Given the description of an element on the screen output the (x, y) to click on. 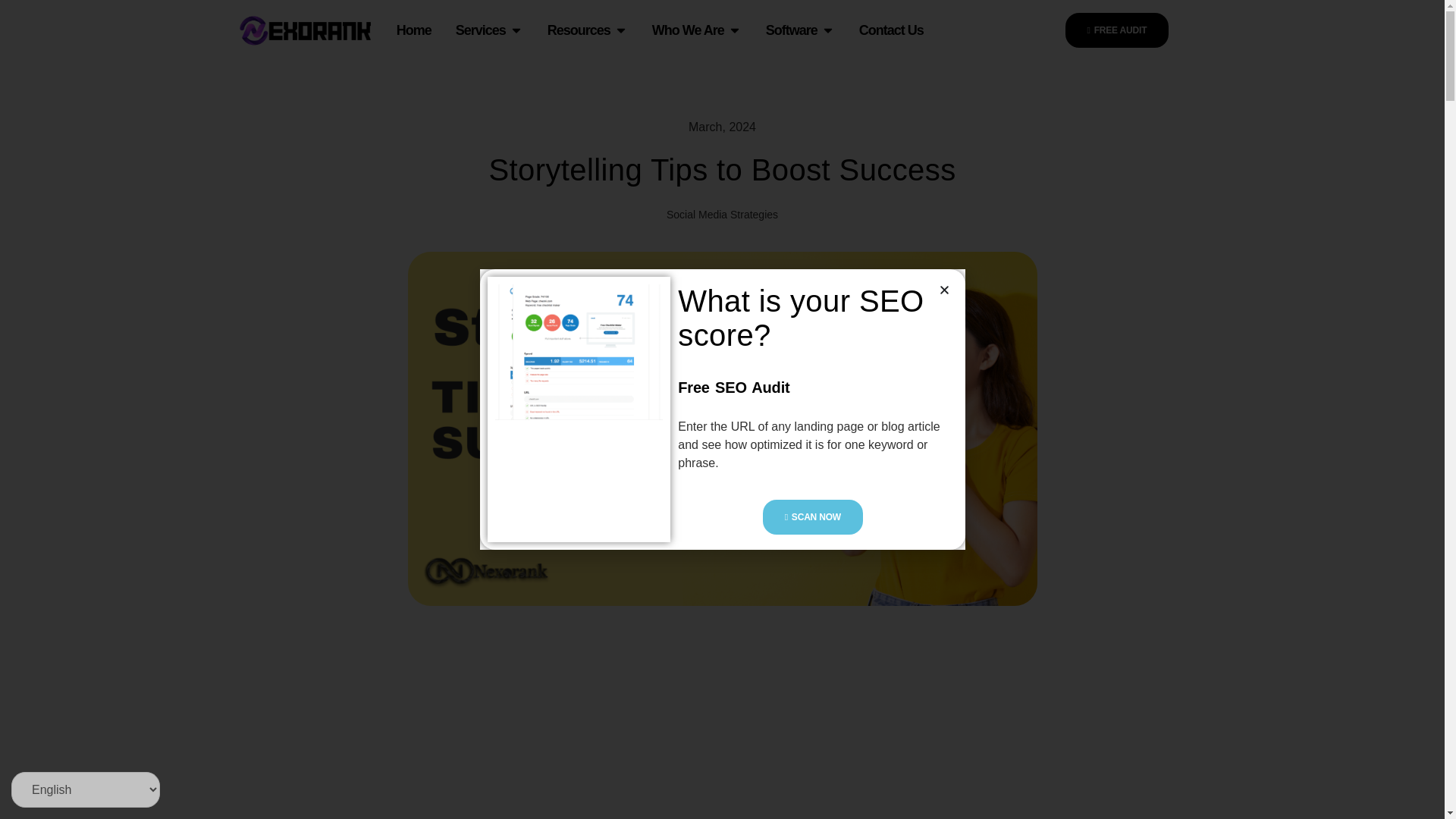
Advertisement (716, 735)
Advertisement (396, 735)
Advertisement (1037, 735)
